Given the description of an element on the screen output the (x, y) to click on. 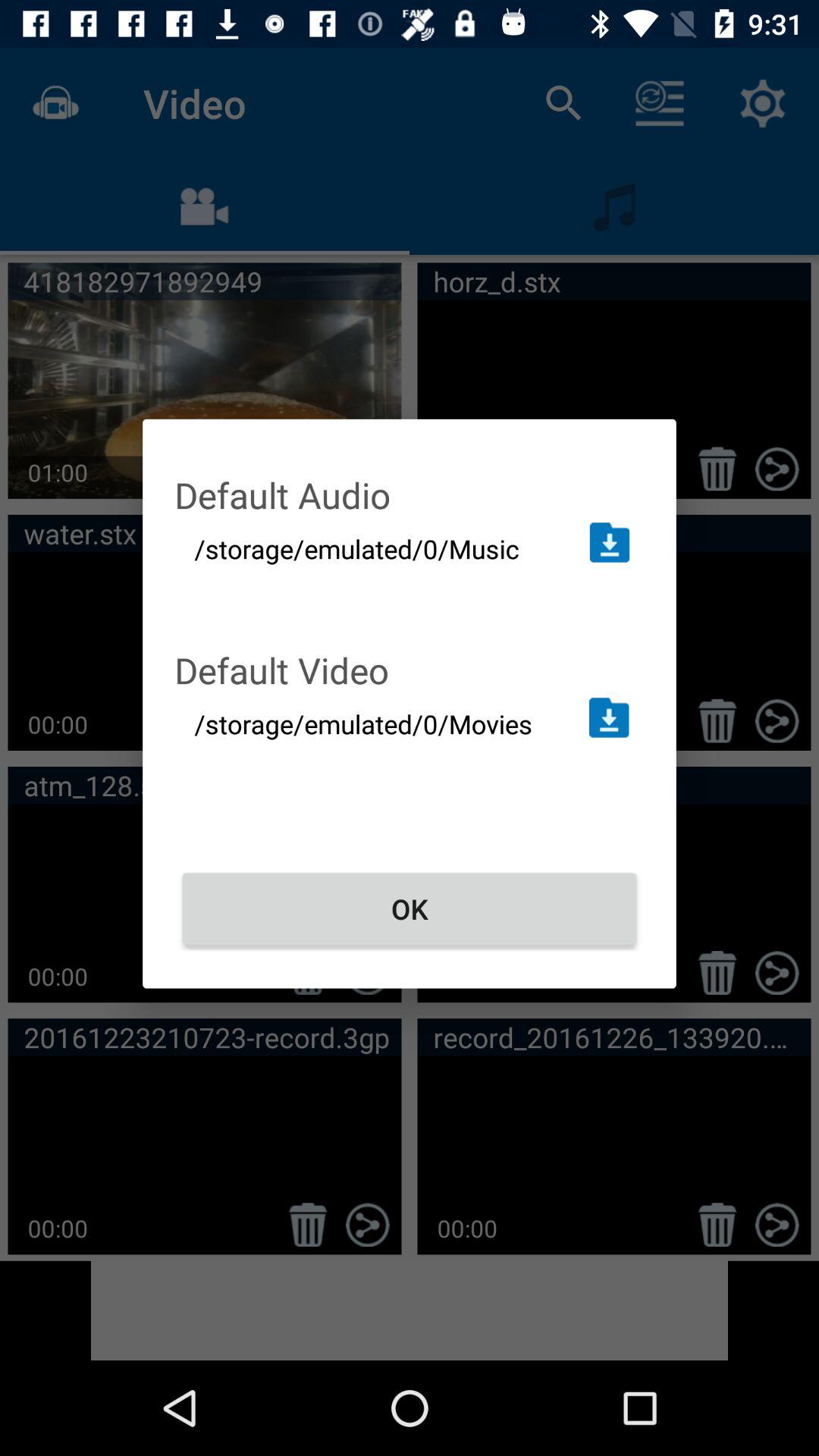
select video file (608, 717)
